Given the description of an element on the screen output the (x, y) to click on. 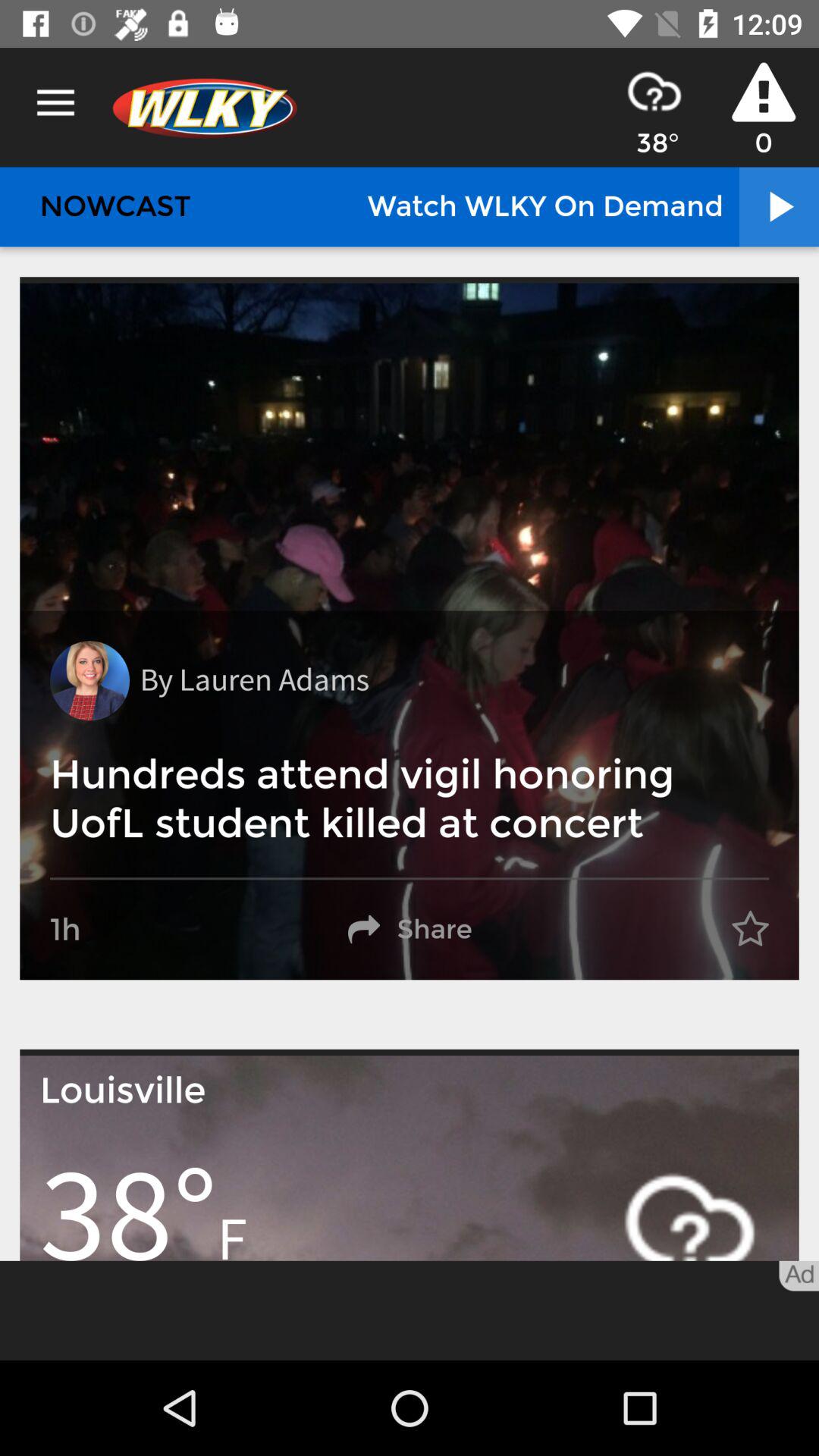
turn off the icon on the right (750, 929)
